Given the description of an element on the screen output the (x, y) to click on. 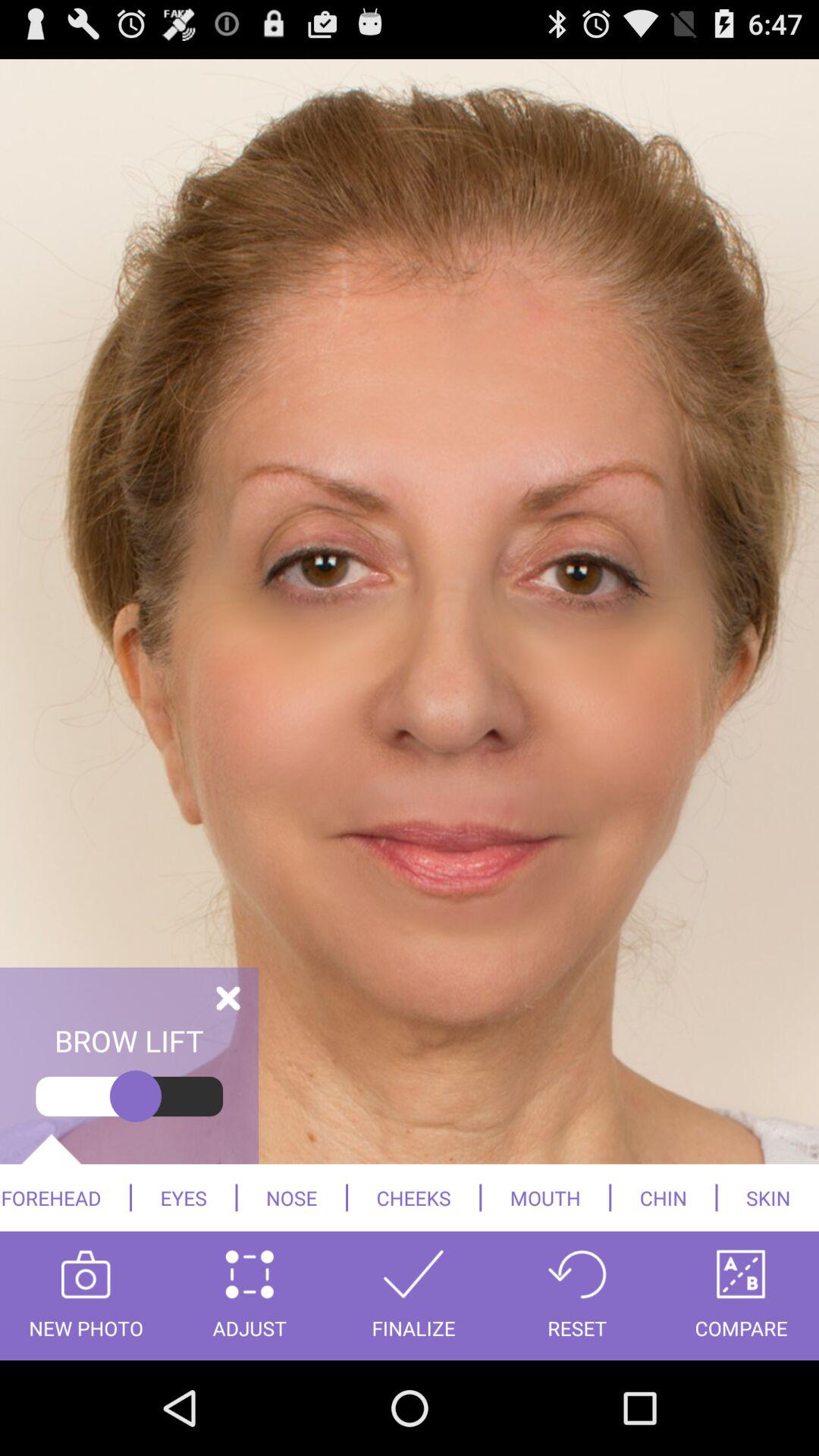
open skin icon (768, 1197)
